Given the description of an element on the screen output the (x, y) to click on. 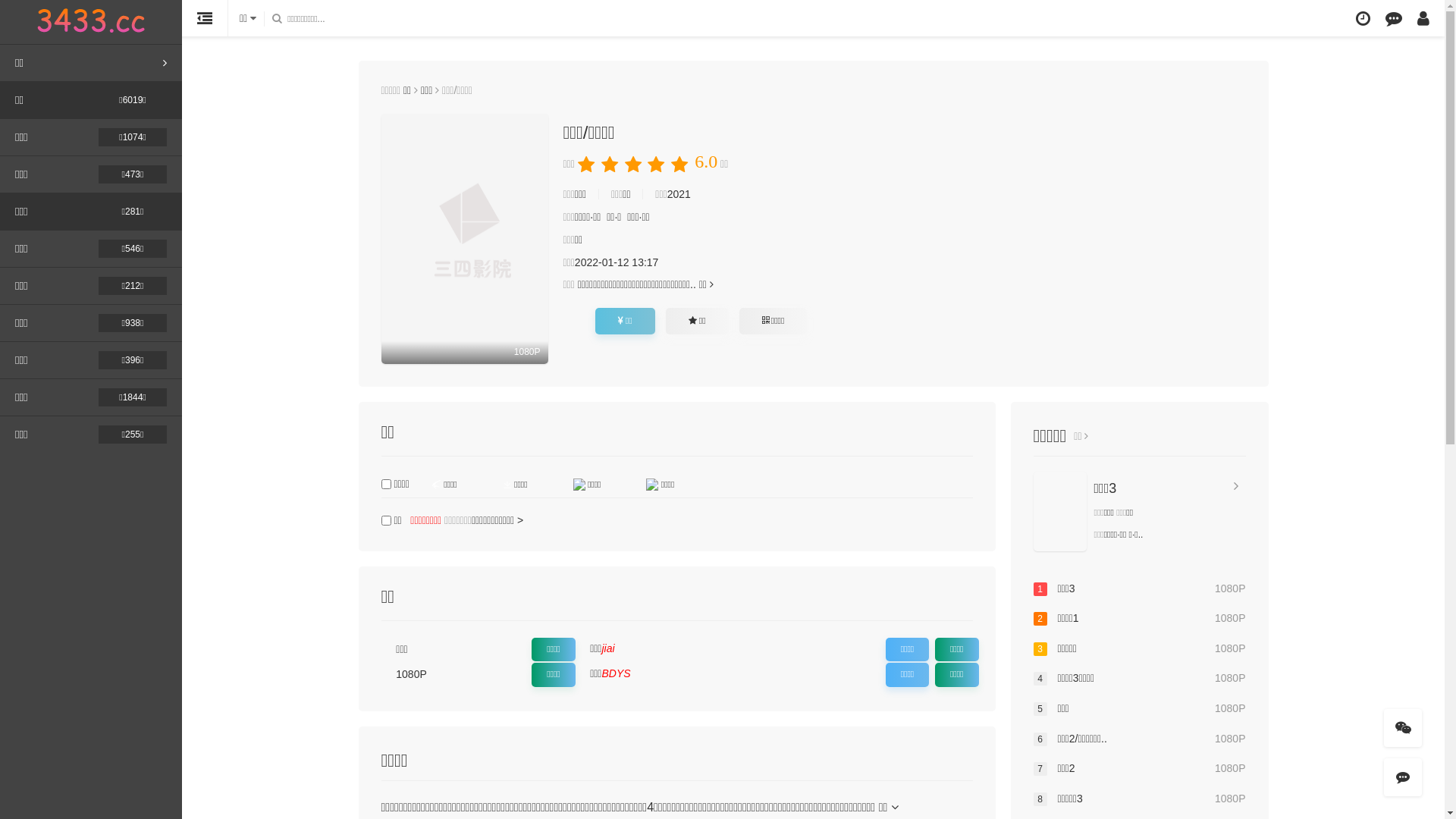
1080P Element type: text (463, 238)
2021 Element type: text (678, 194)
